Given the description of an element on the screen output the (x, y) to click on. 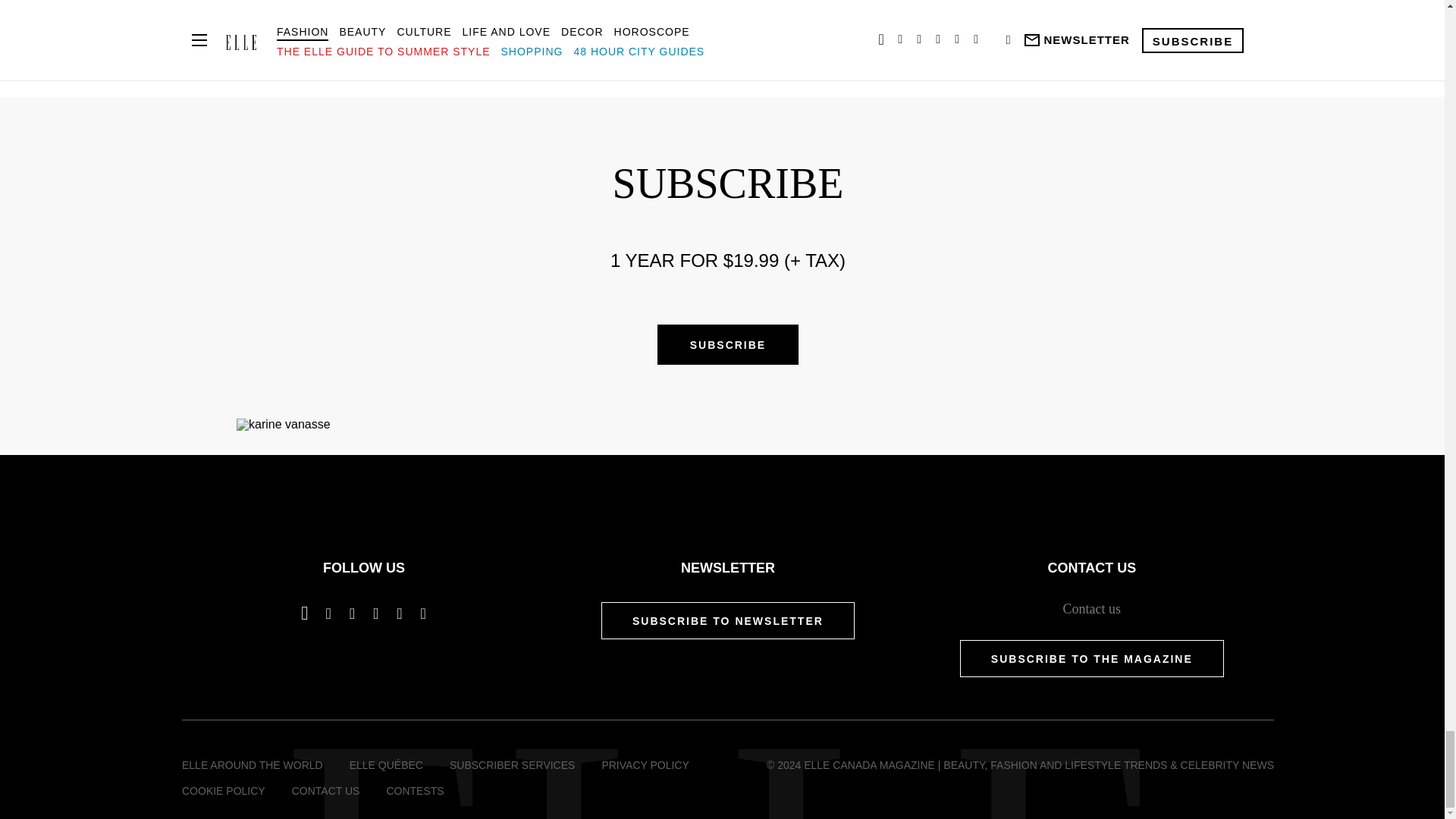
SUBSCRIBE (727, 344)
